Given the description of an element on the screen output the (x, y) to click on. 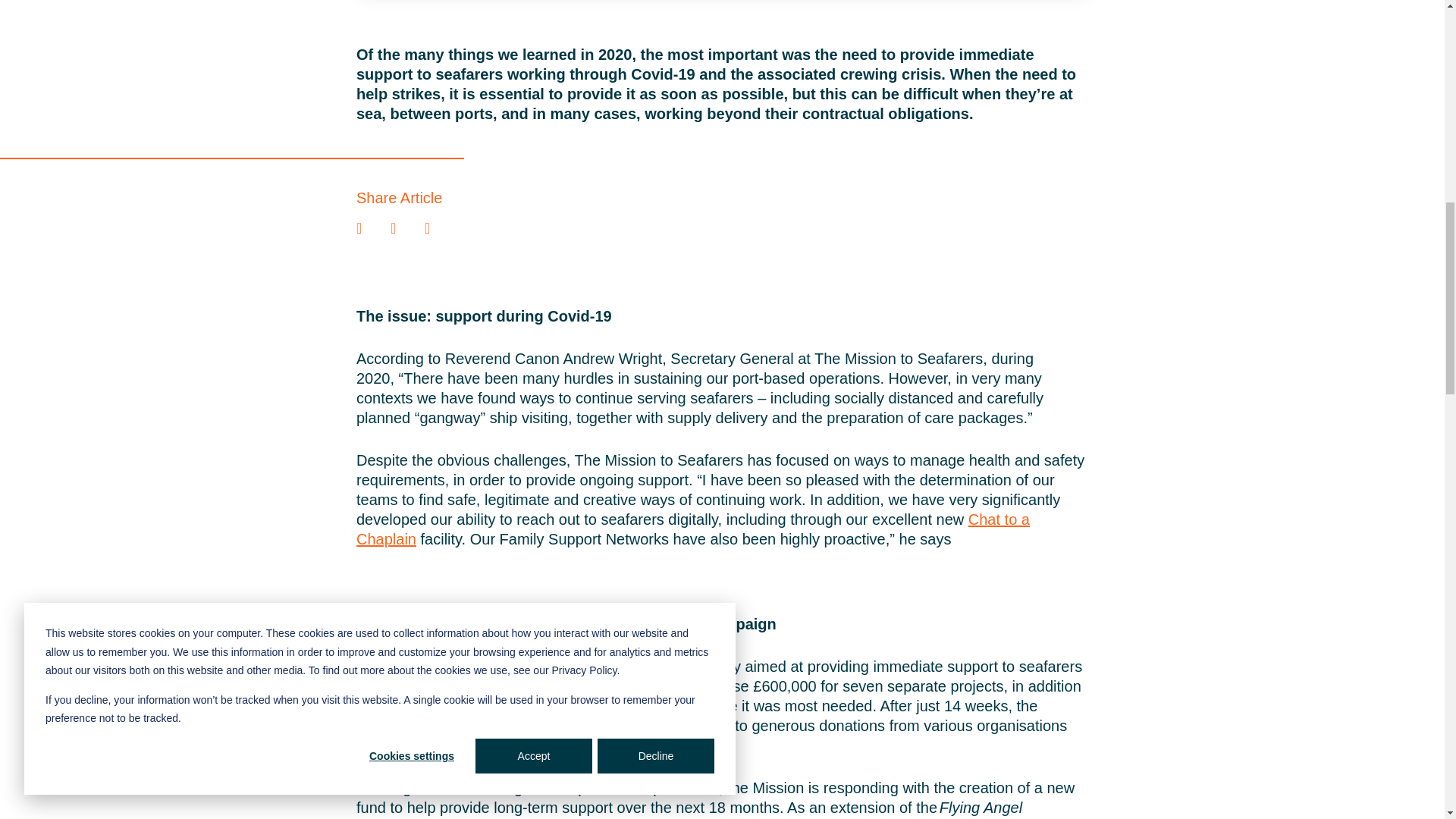
twitter (393, 227)
linkedin (358, 228)
